Given the description of an element on the screen output the (x, y) to click on. 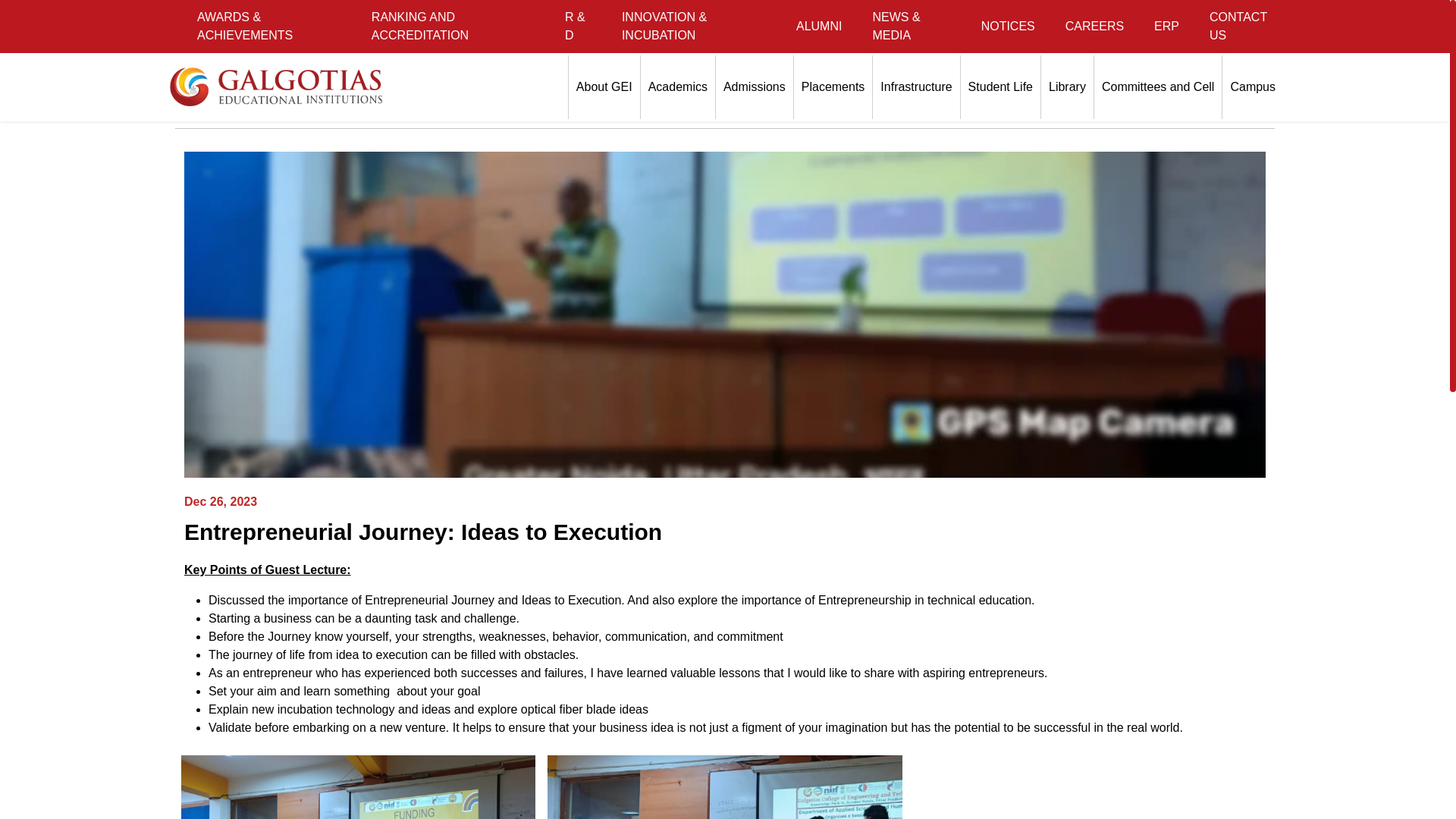
Committees and Cell (1158, 86)
Campus (1252, 86)
ALUMNI (818, 26)
Library (1067, 86)
Student Life (1000, 86)
CAREERS (1093, 26)
NOTICES (1007, 26)
Academics (677, 86)
ERP (1165, 26)
RANKING AND ACCREDITATION (453, 26)
About GEI (604, 86)
Admissions (754, 86)
Placements (832, 86)
Infrastructure (915, 86)
CONTACT US (1242, 26)
